Given the description of an element on the screen output the (x, y) to click on. 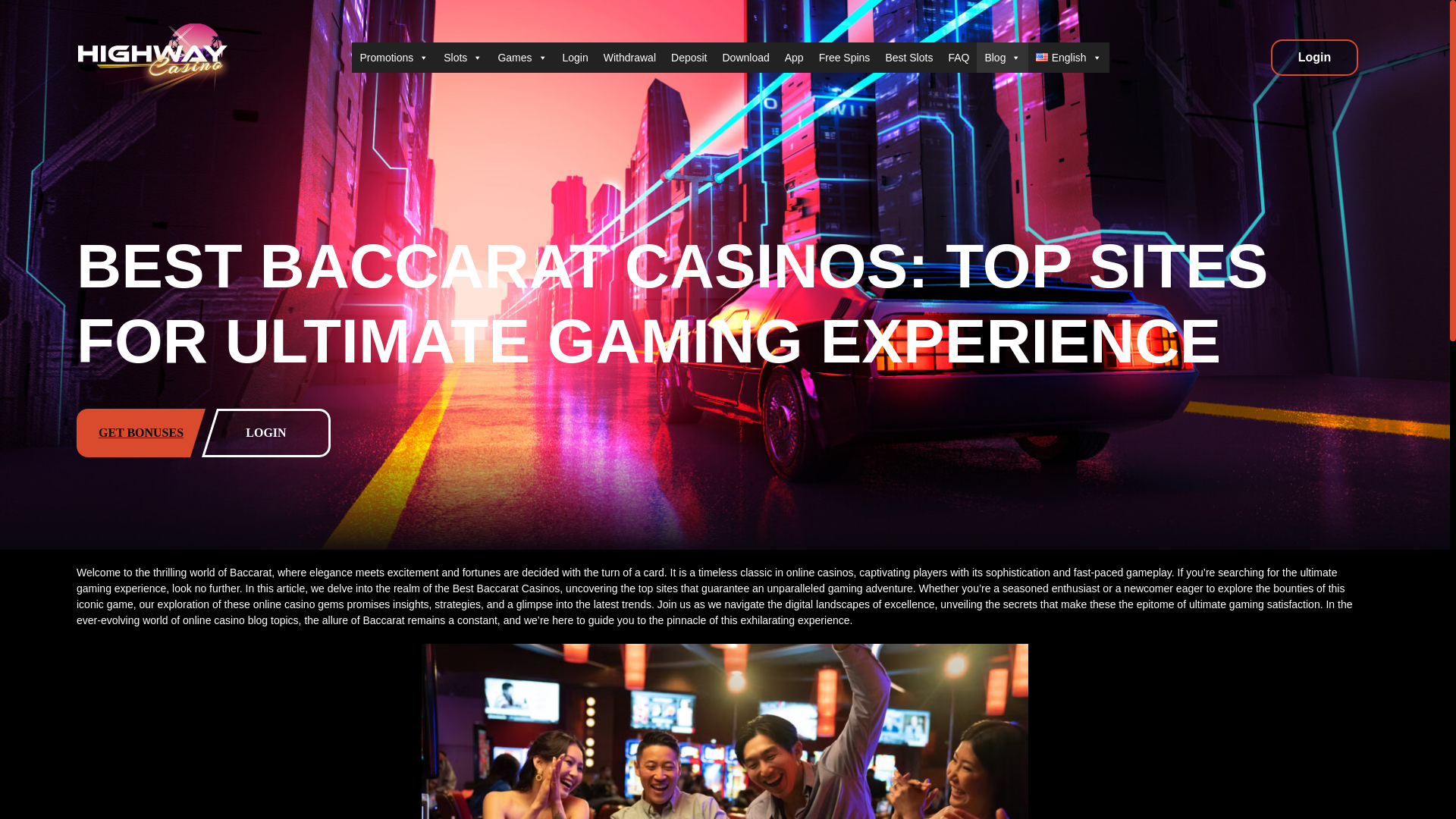
Login (574, 57)
English (1067, 57)
Withdrawal (629, 57)
FAQ (958, 57)
Slots (462, 57)
Games (521, 57)
Blog (1001, 57)
Download (745, 57)
Best Slots (908, 57)
App (793, 57)
